Given the description of an element on the screen output the (x, y) to click on. 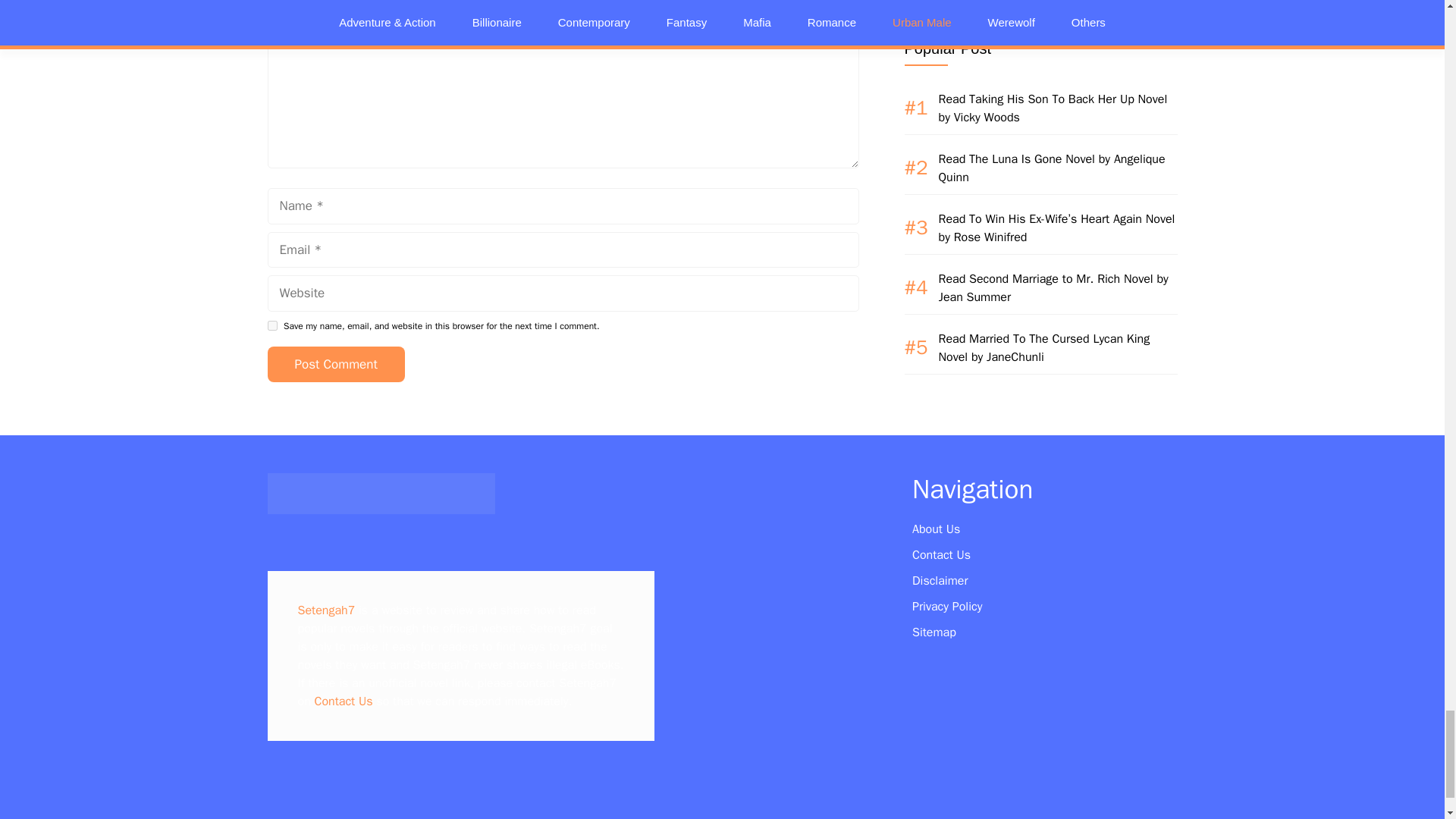
Post Comment (335, 364)
yes (271, 325)
